Given the description of an element on the screen output the (x, y) to click on. 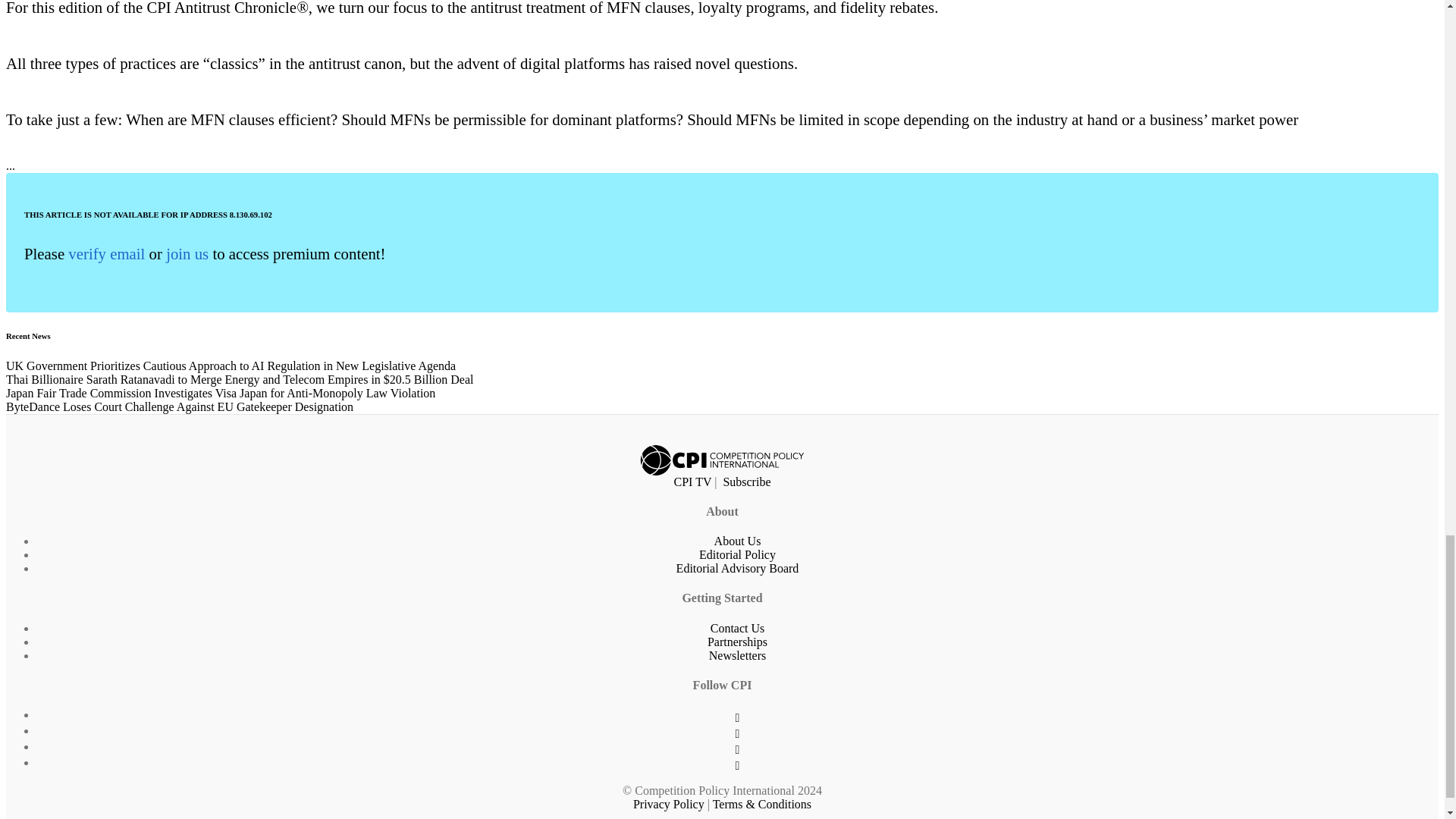
Editorial Policy (737, 554)
About Us (737, 540)
CPI TV (692, 481)
Partnerships (737, 641)
Privacy Policy (668, 803)
Subscribe (746, 481)
join us (186, 253)
verify email (106, 253)
Editorial Advisory Board (738, 567)
Newsletters (738, 655)
